Given the description of an element on the screen output the (x, y) to click on. 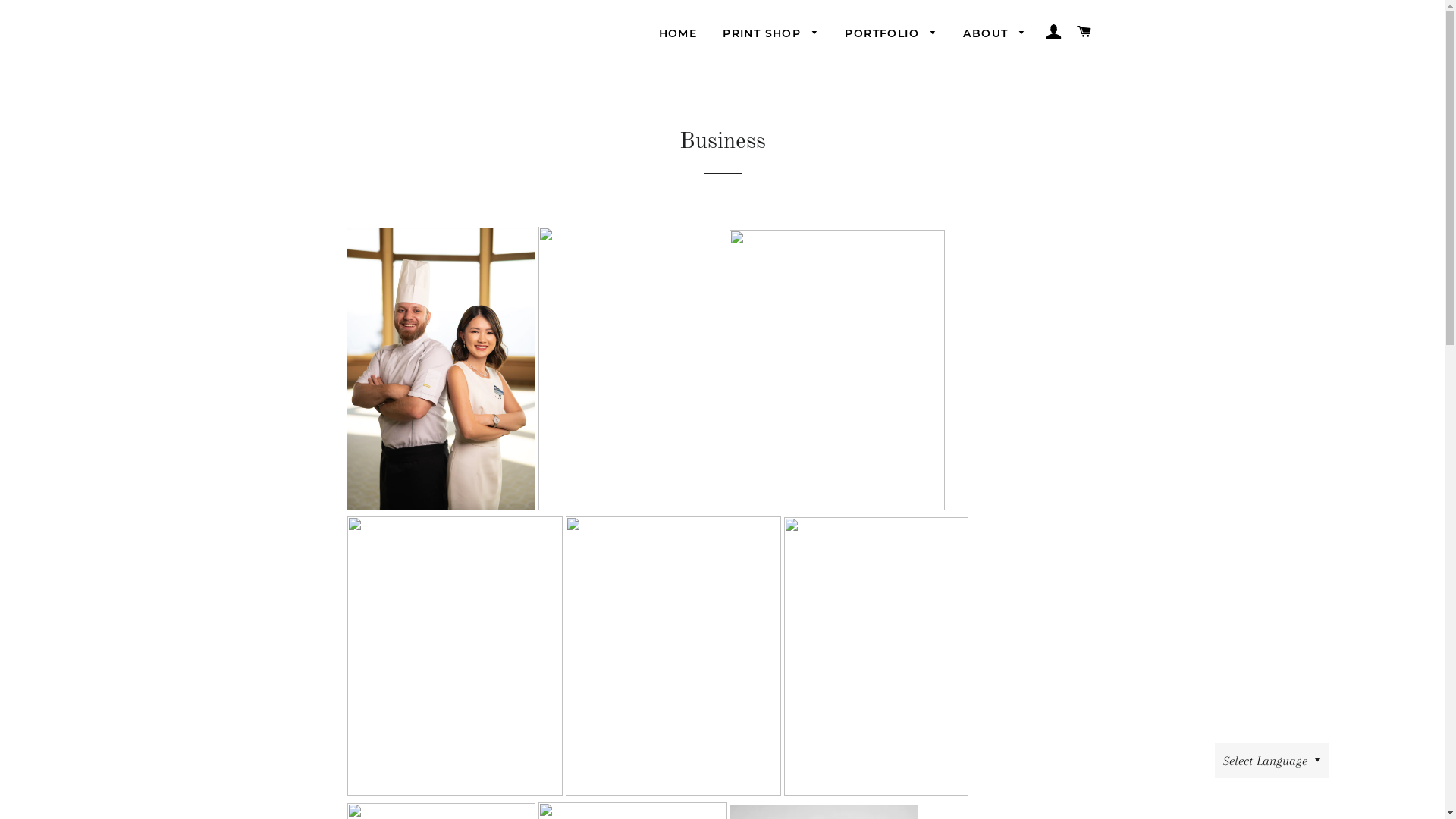
PORTFOLIO Element type: text (890, 33)
CART Element type: text (1083, 30)
HOME Element type: text (678, 33)
PRINT SHOP Element type: text (770, 33)
ABOUT Element type: text (994, 33)
LOG IN Element type: text (1054, 30)
